Given the description of an element on the screen output the (x, y) to click on. 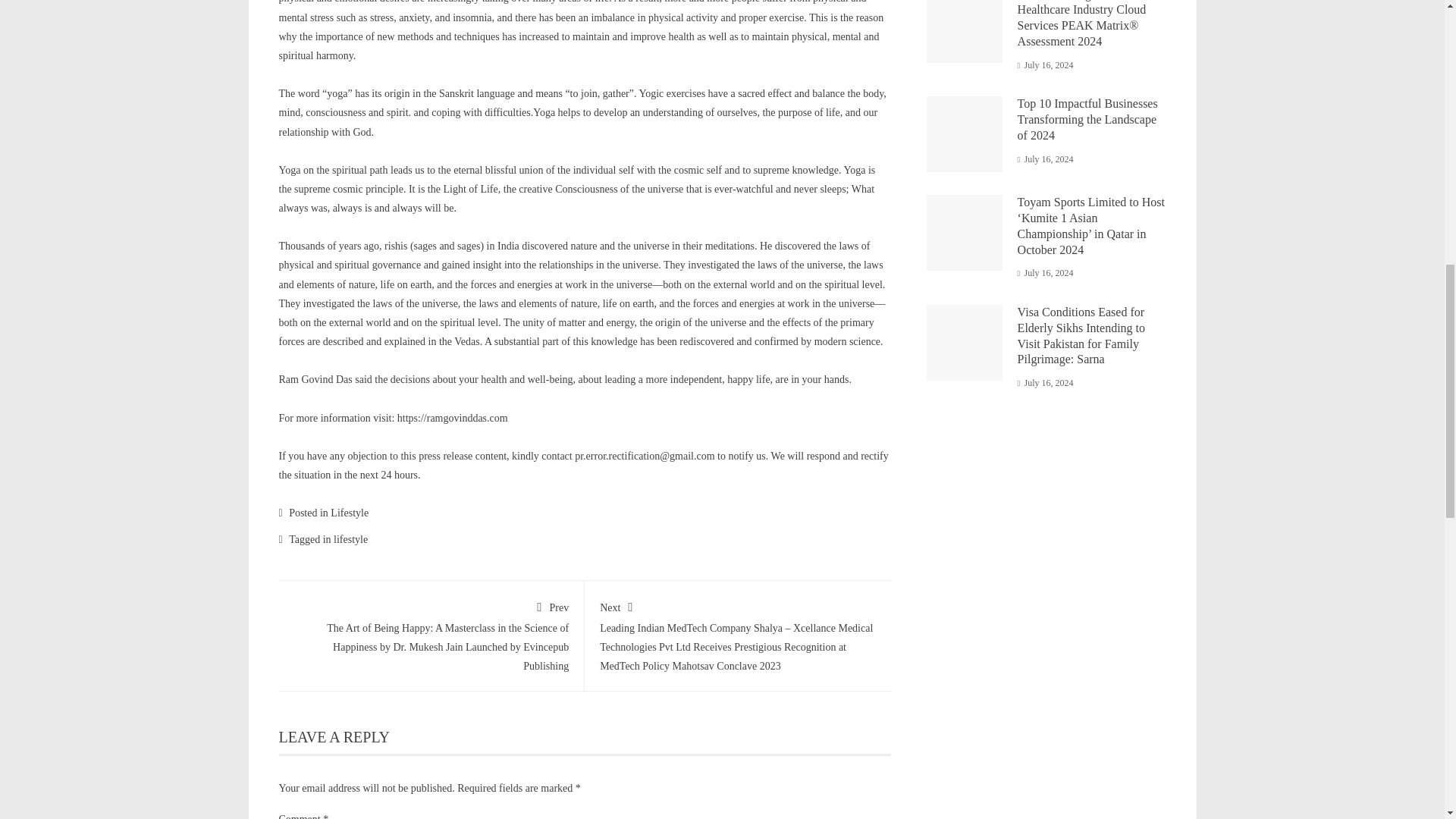
lifestyle (350, 539)
Lifestyle (349, 512)
